Given the description of an element on the screen output the (x, y) to click on. 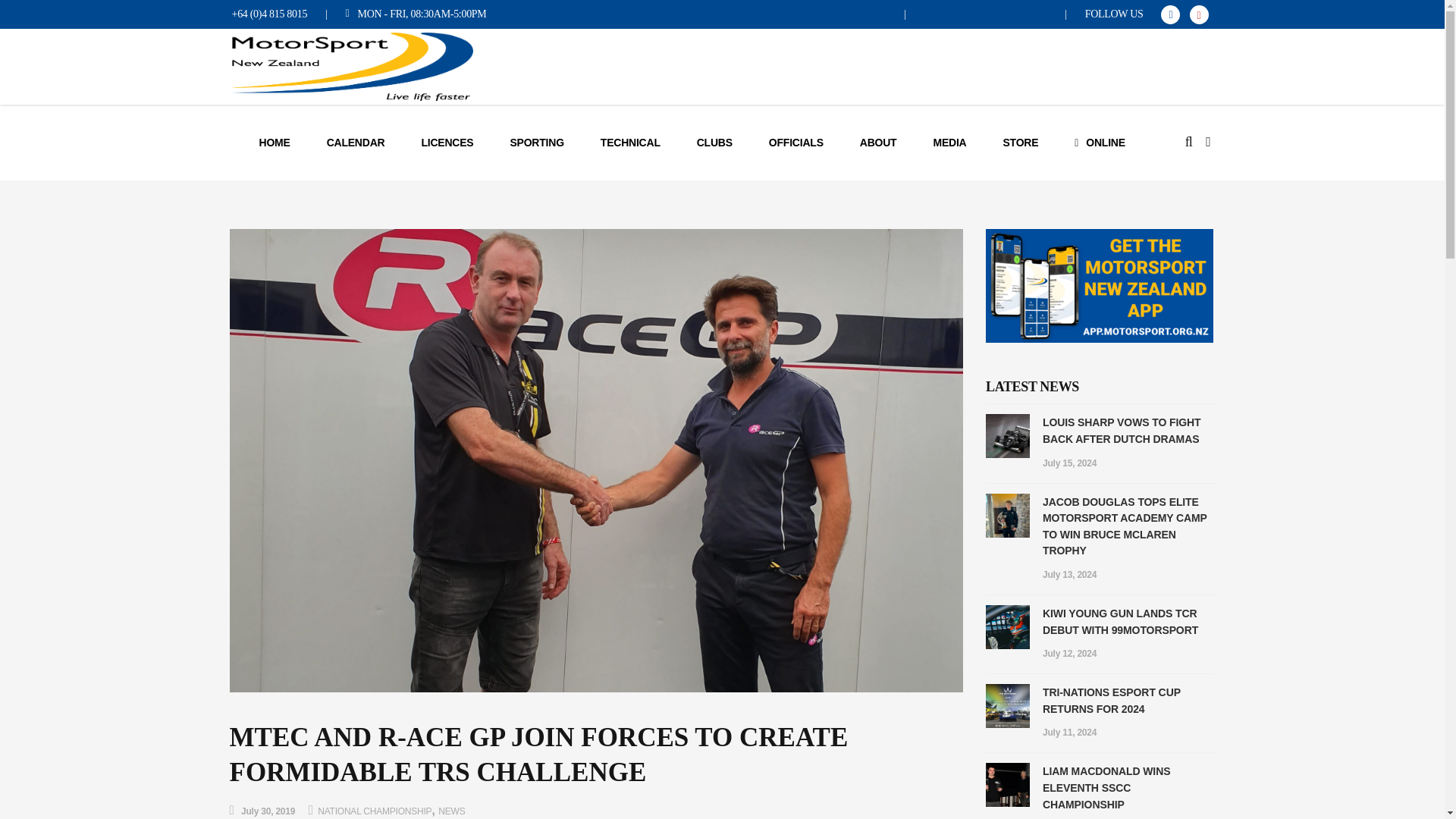
SPORTING (536, 142)
LICENCES (447, 142)
IQUALIFY LOGIN (841, 13)
TECHNICAL (630, 142)
CALENDAR (355, 142)
MOTORSPORT MANUAL (985, 13)
HOME (274, 142)
